Given the description of an element on the screen output the (x, y) to click on. 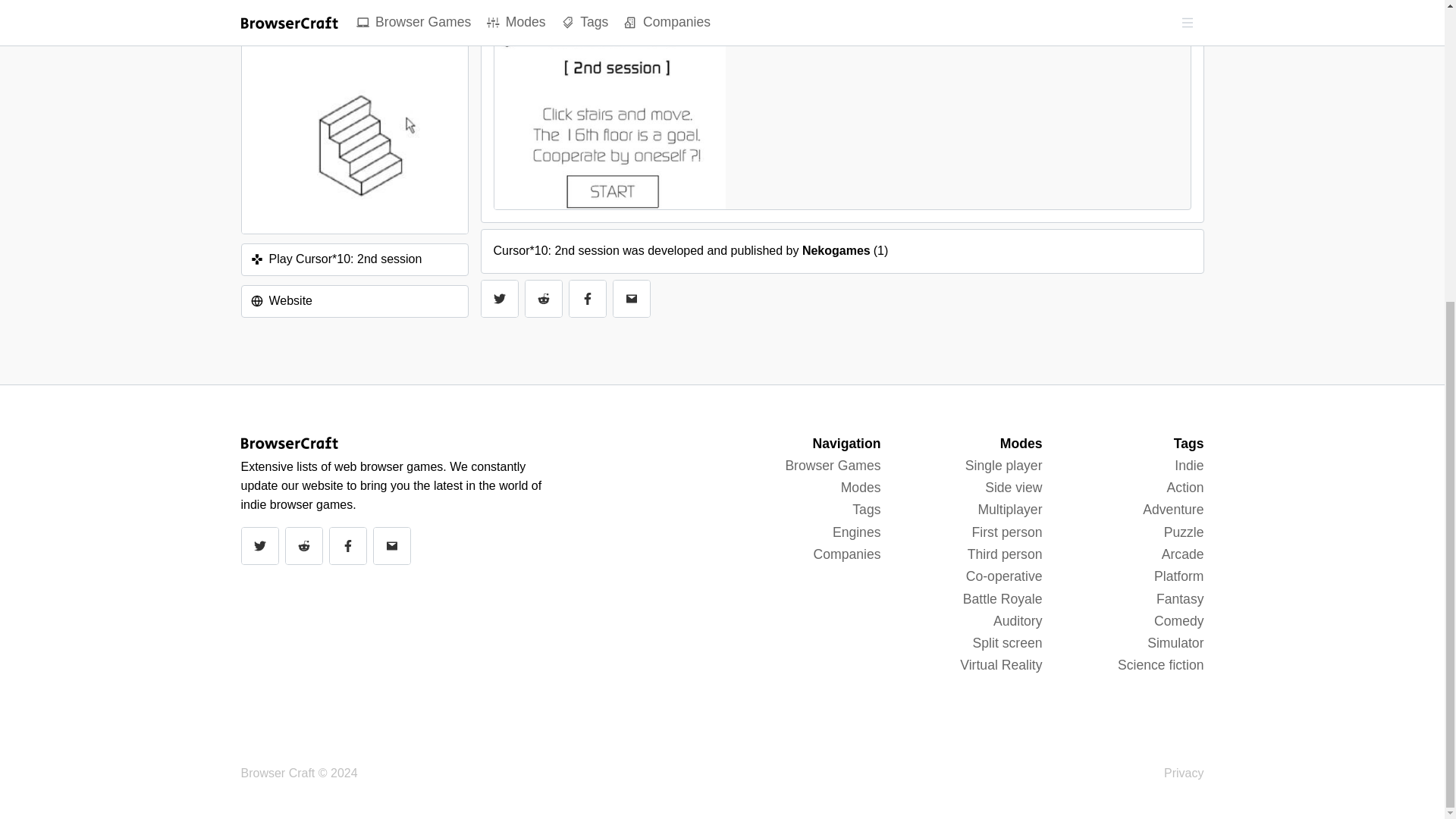
Auditory (1017, 620)
Indie (1189, 465)
Browser Craft on Reddit (542, 298)
Single player (1003, 465)
Engines (856, 531)
Modes (860, 487)
Browser Craft on Facebook (347, 545)
Browser Craft on Twitter (259, 545)
Multiplayer (1009, 509)
Browser Craft on Twitter (498, 298)
Browser Games (832, 465)
Battle Royale (1002, 598)
Browser Craft (278, 772)
Browser Craft on Email (390, 545)
Nekogames (836, 250)
